Given the description of an element on the screen output the (x, y) to click on. 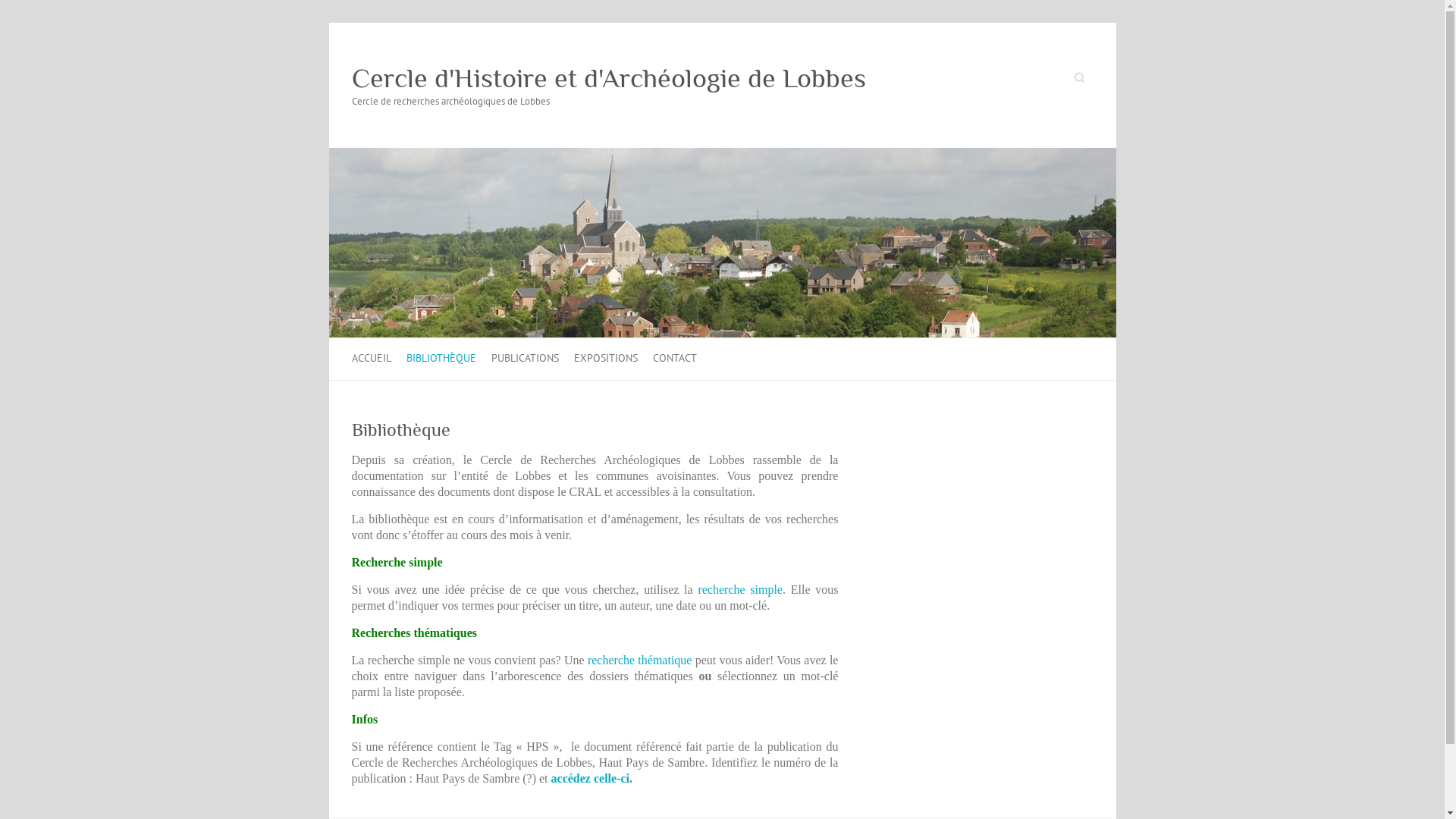
ACCUEIL Element type: text (371, 358)
EXPOSITIONS Element type: text (605, 358)
Recherche simple Element type: text (396, 562)
recherche simple Element type: text (739, 589)
CONTACT Element type: text (674, 358)
PUBLICATIONS Element type: text (524, 358)
